Given the description of an element on the screen output the (x, y) to click on. 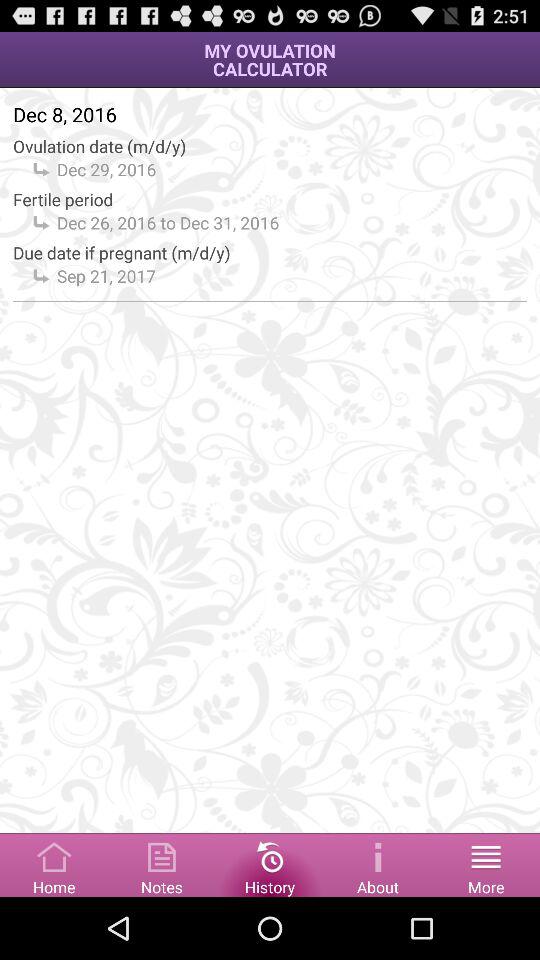
show more options (486, 864)
